Given the description of an element on the screen output the (x, y) to click on. 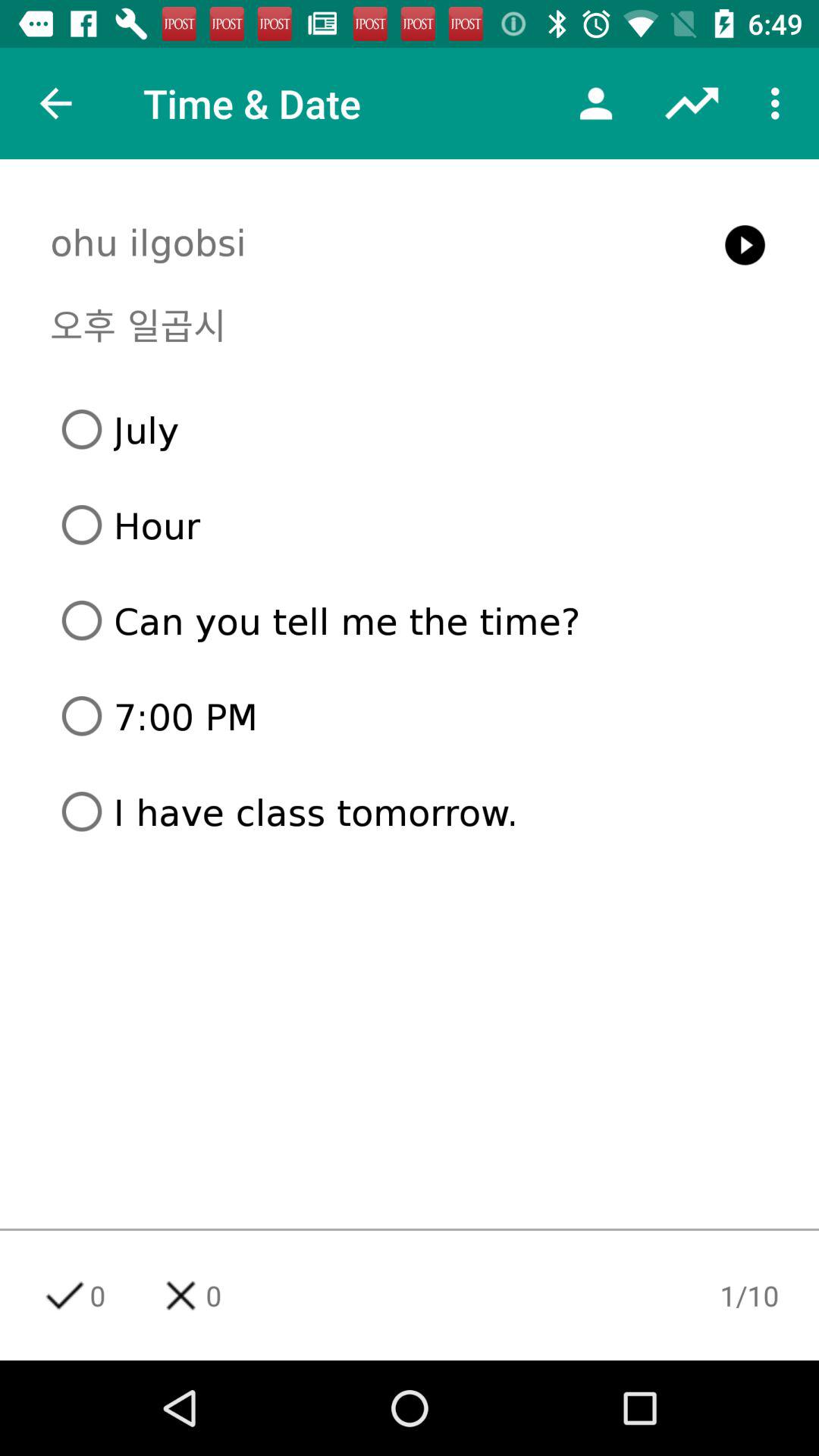
click the can you tell icon (415, 620)
